Given the description of an element on the screen output the (x, y) to click on. 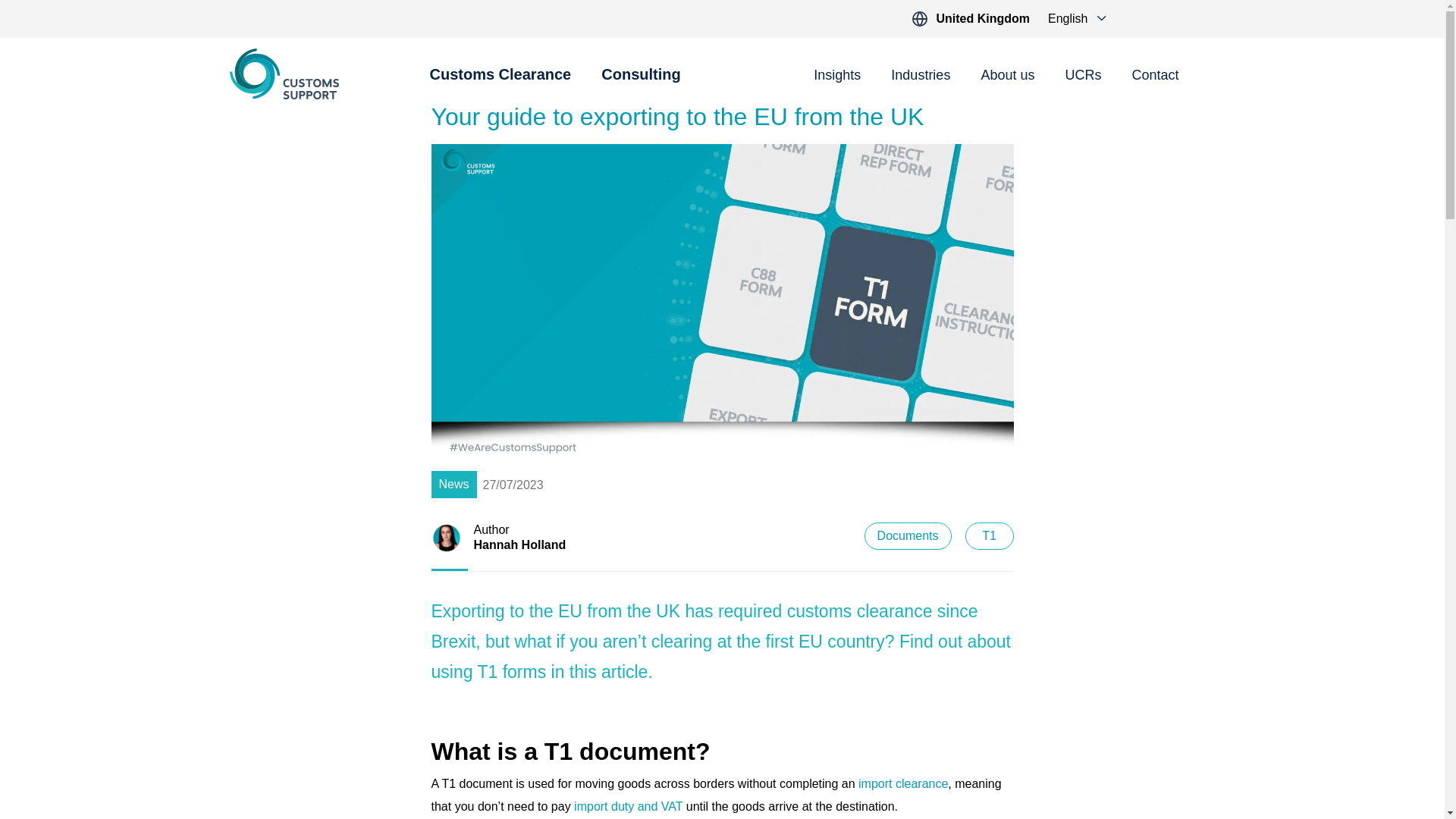
Insights (836, 75)
About us (1006, 75)
Insights (836, 75)
Industries (920, 75)
Industries (920, 75)
Customs Clearance (499, 83)
Consulting services (640, 83)
About us (1006, 75)
Consulting (640, 83)
Contact (1154, 75)
Customs Clearance (499, 83)
UCRs (1082, 75)
